Given the description of an element on the screen output the (x, y) to click on. 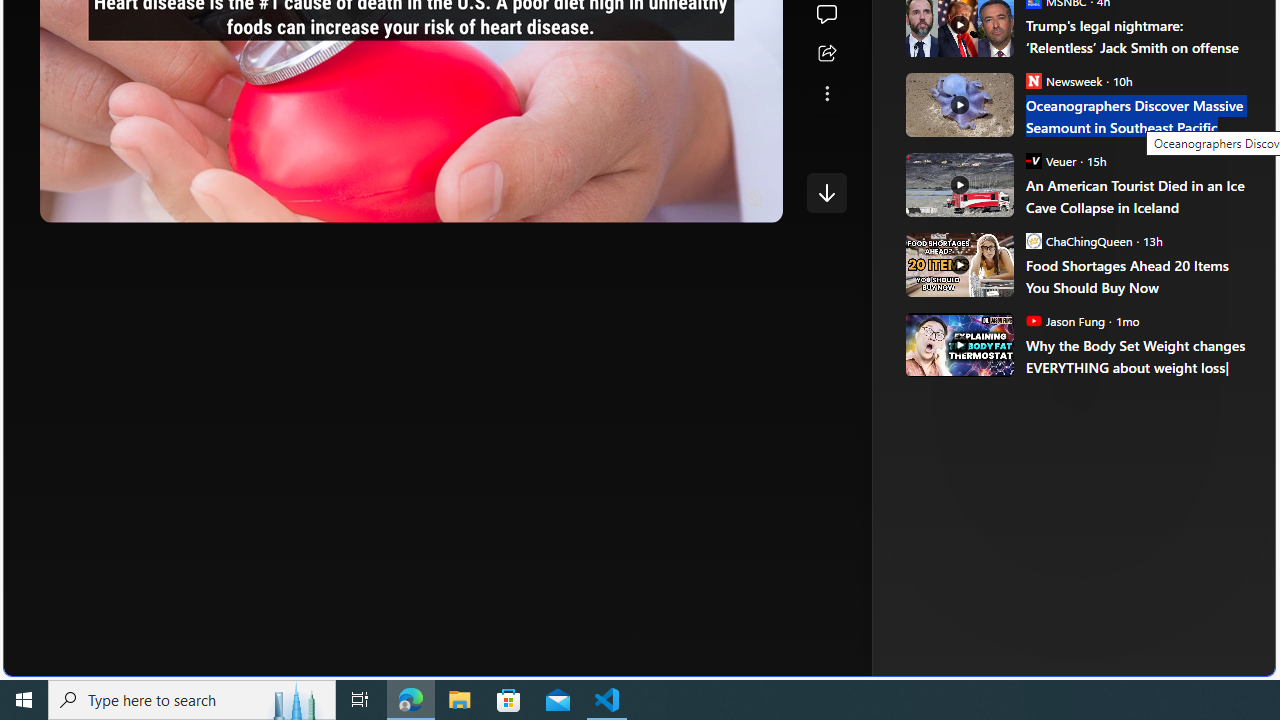
Newsweek (1033, 80)
An American Tourist Died in an Ice Cave Collapse in Iceland (1136, 196)
Captions (675, 200)
Share this story (826, 53)
Seek Forward (150, 200)
